Given the description of an element on the screen output the (x, y) to click on. 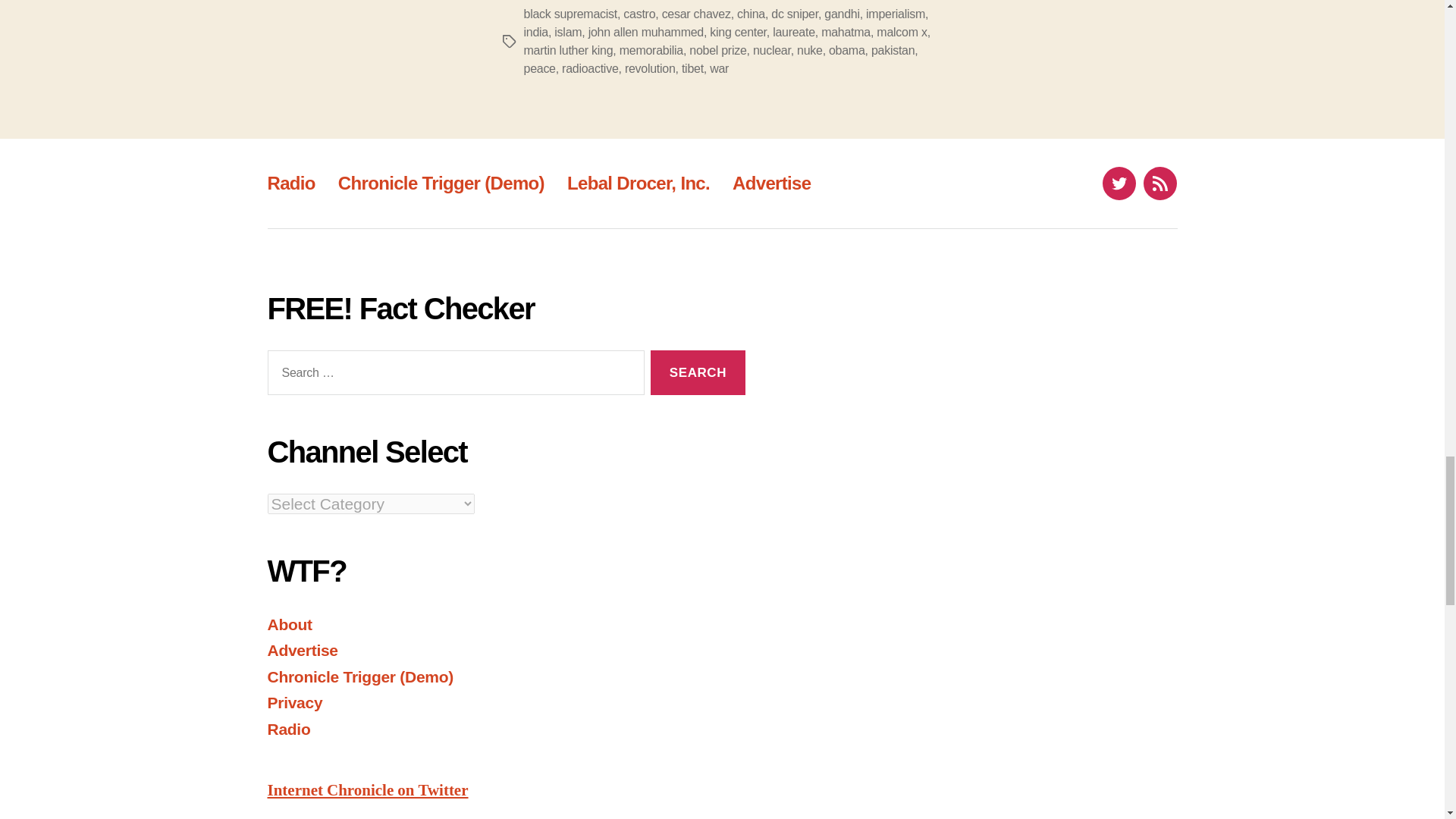
black supremacist (568, 13)
john allen muhammed (645, 31)
imperialism (895, 13)
dc sniper (794, 13)
cesar chavez (696, 13)
martin luther king (567, 50)
gandhi (841, 13)
malcom x (901, 31)
memorabilia (651, 50)
king center (737, 31)
